Given the description of an element on the screen output the (x, y) to click on. 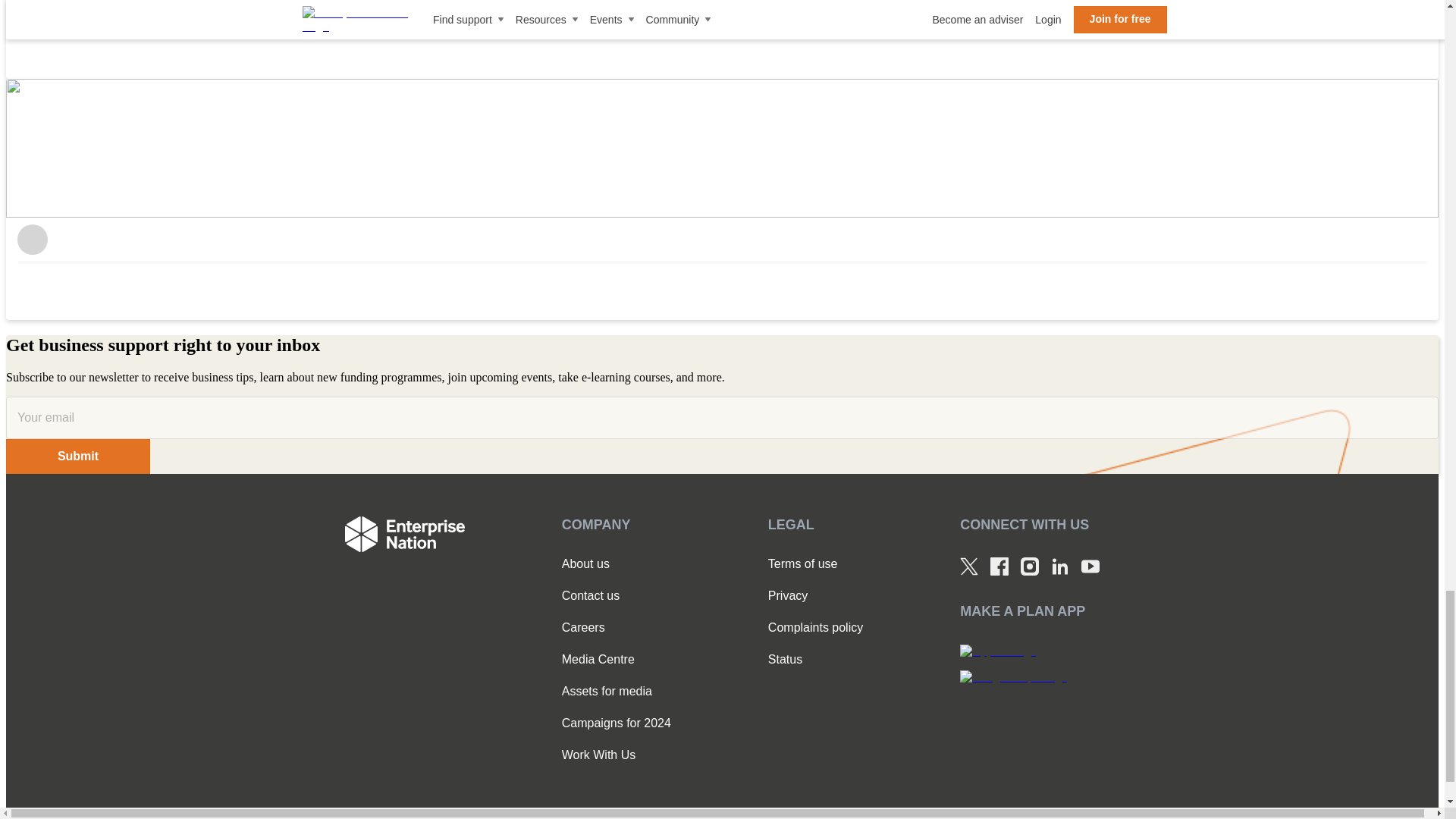
Complaints policy (815, 627)
Work With Us (616, 755)
Campaigns for 2024 (616, 723)
About us (616, 563)
Submit (77, 456)
Privacy (815, 595)
Careers (616, 627)
Contact us (616, 595)
Media Centre (616, 659)
Terms of use (815, 563)
Status (815, 659)
Assets for media (616, 691)
